Given the description of an element on the screen output the (x, y) to click on. 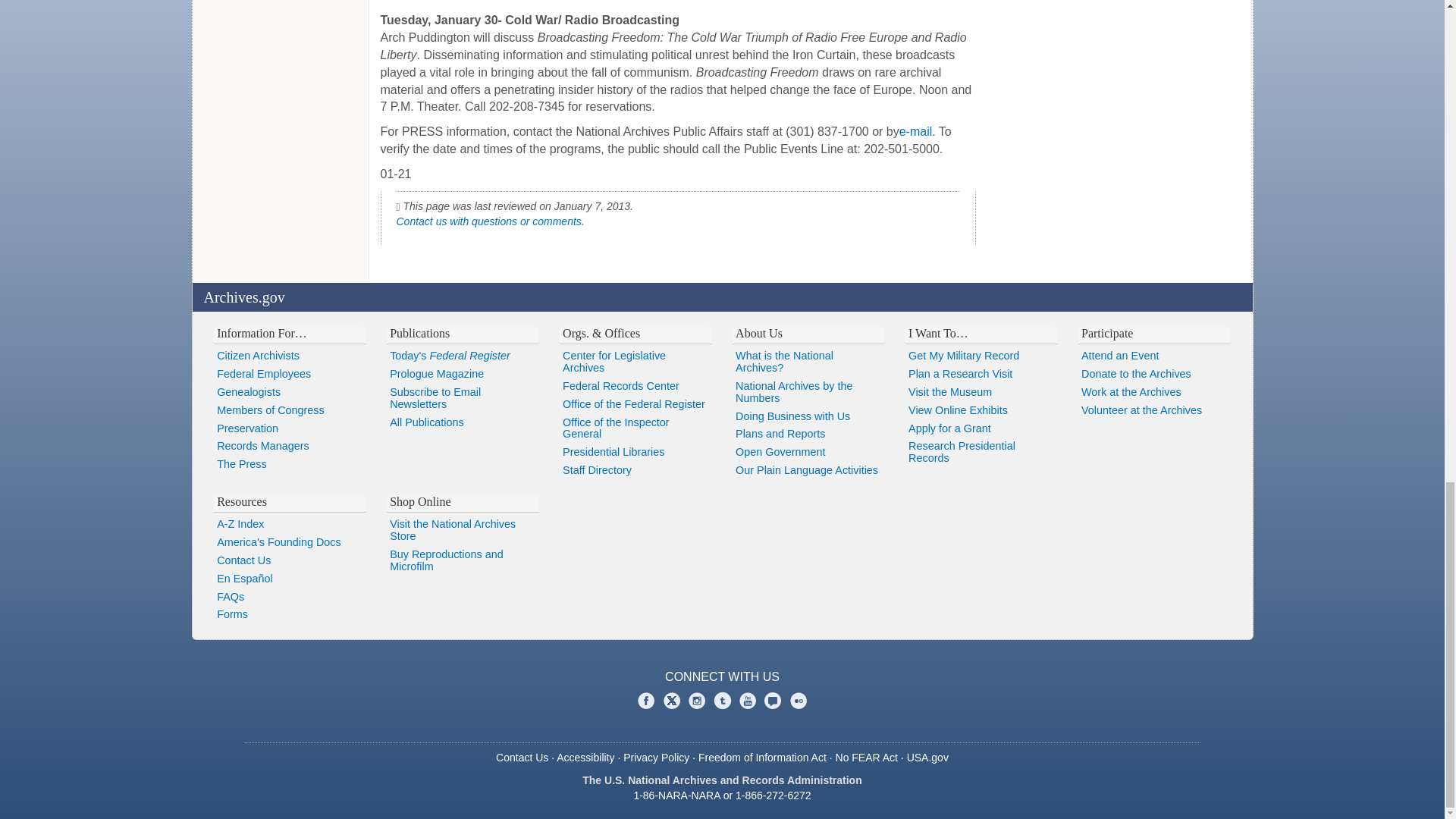
Contact us with questions or comments (488, 221)
Members of Congress (290, 411)
Citizen Archivists (290, 356)
Federal Employees (290, 374)
Genealogists (290, 393)
e-mail (916, 131)
